Given the description of an element on the screen output the (x, y) to click on. 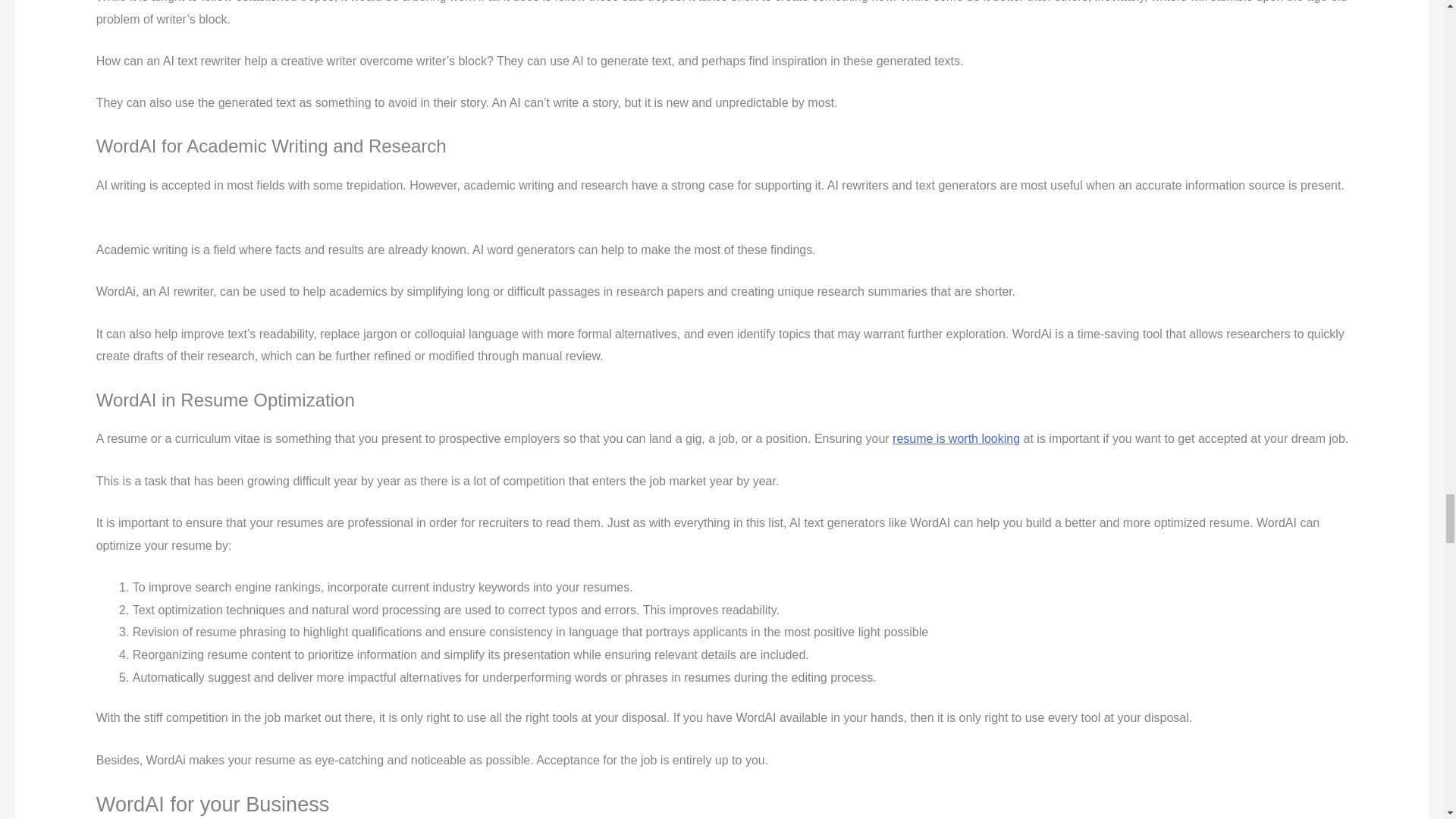
resume is worth looking (956, 438)
